Given the description of an element on the screen output the (x, y) to click on. 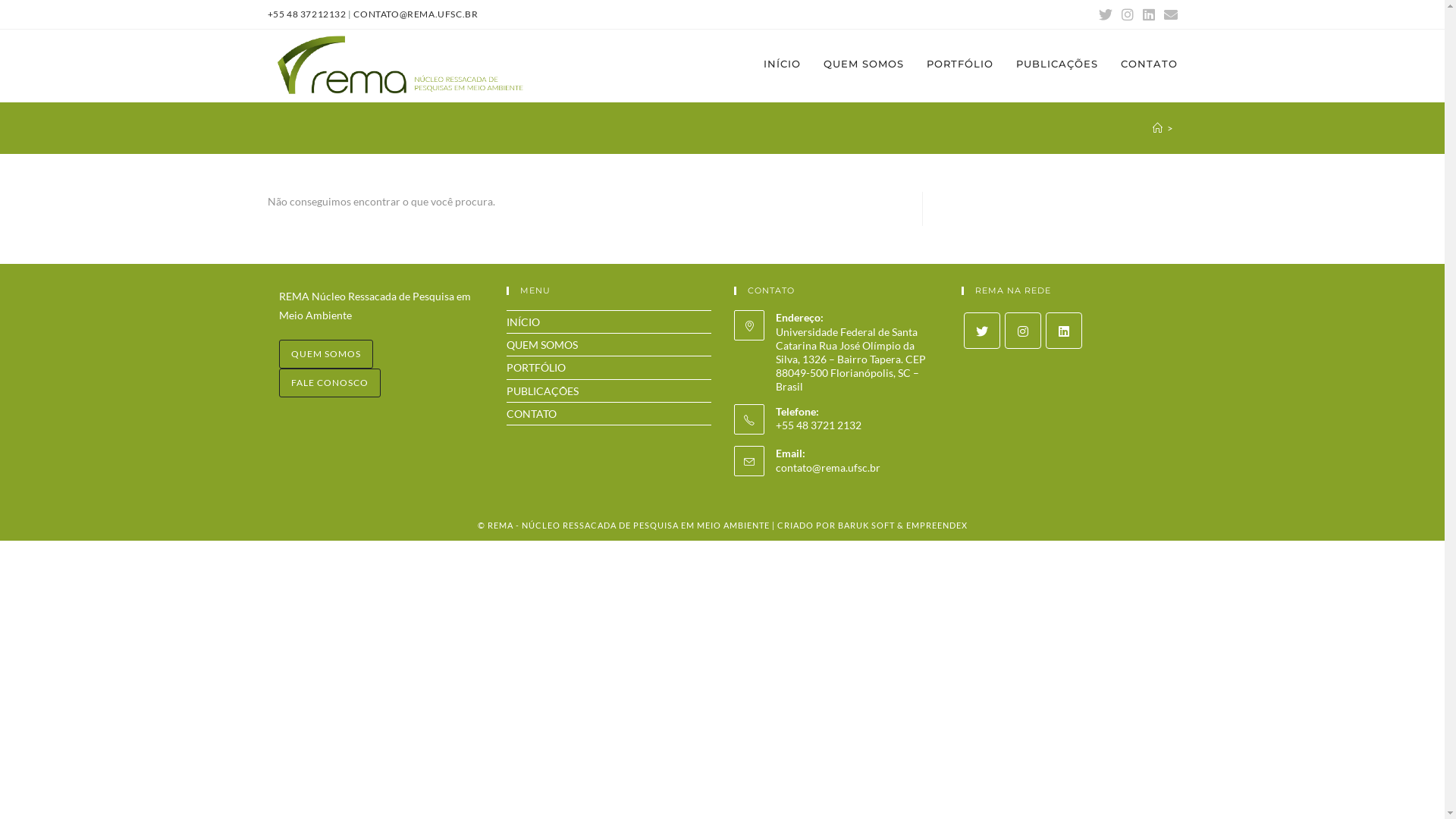
Twitter Element type: hover (981, 330)
contato@rema.ufsc.br Element type: text (827, 467)
& Element type: text (900, 525)
CONTATO@REMA.UFSC.BR Element type: text (415, 13)
Email Element type: hover (1167, 13)
QUEM SOMOS Element type: text (541, 344)
LinkedIn Element type: hover (1062, 330)
Twitter Element type: hover (1104, 13)
CONTATO Element type: text (531, 413)
QUEM SOMOS Element type: text (326, 353)
BARUK SOFT Element type: text (865, 525)
FALE CONOSCO Element type: text (329, 382)
Instagram Element type: hover (1022, 330)
EMPREENDEX Element type: text (935, 525)
+55 48 37212132 Element type: text (305, 13)
LinkedIn Element type: hover (1147, 13)
QUEM SOMOS Element type: text (862, 63)
Instagram Element type: hover (1126, 13)
CONTATO Element type: text (1148, 63)
